Given the description of an element on the screen output the (x, y) to click on. 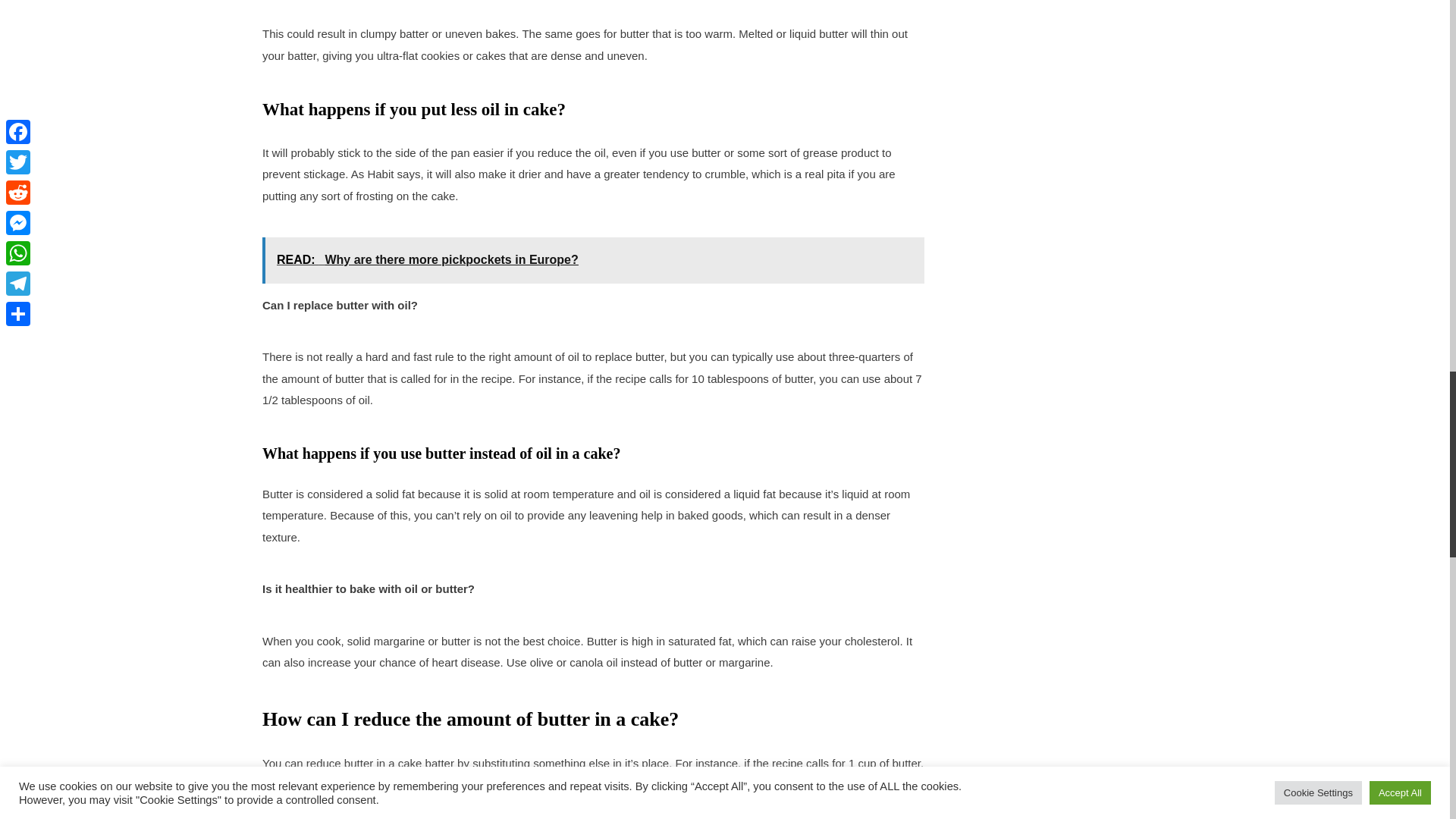
READ:   Why are there more pickpockets in Europe? (593, 259)
